Given the description of an element on the screen output the (x, y) to click on. 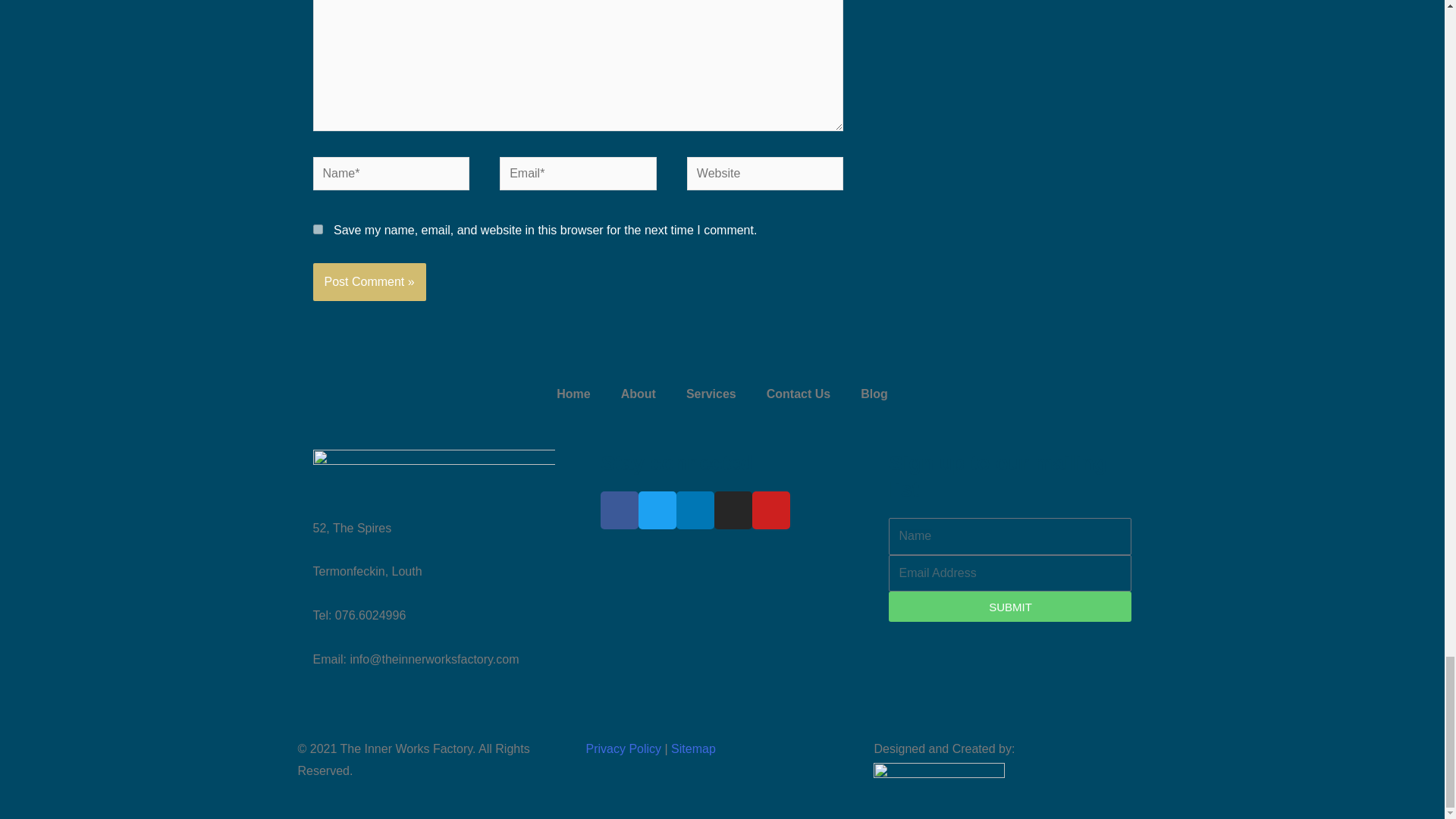
yes (317, 229)
